Given the description of an element on the screen output the (x, y) to click on. 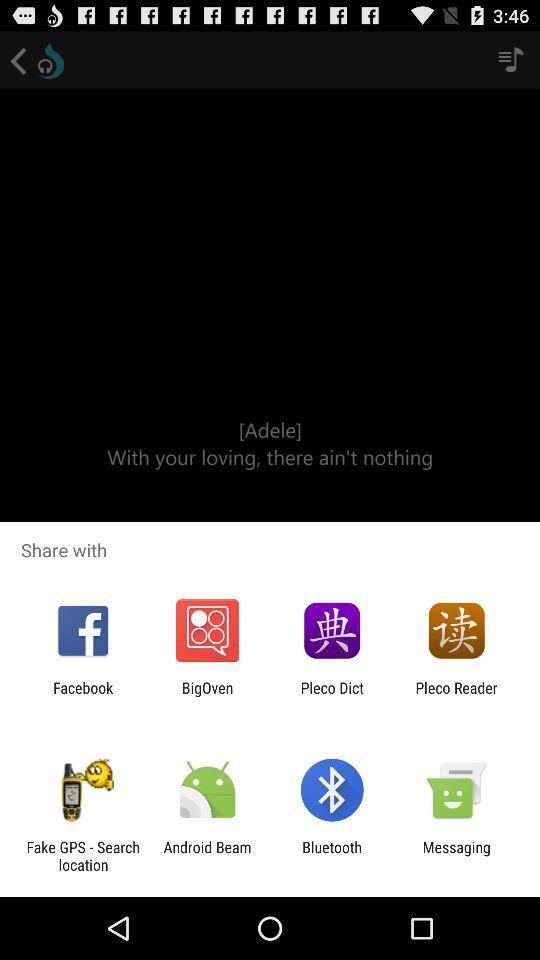
select icon to the left of pleco dict icon (207, 696)
